Given the description of an element on the screen output the (x, y) to click on. 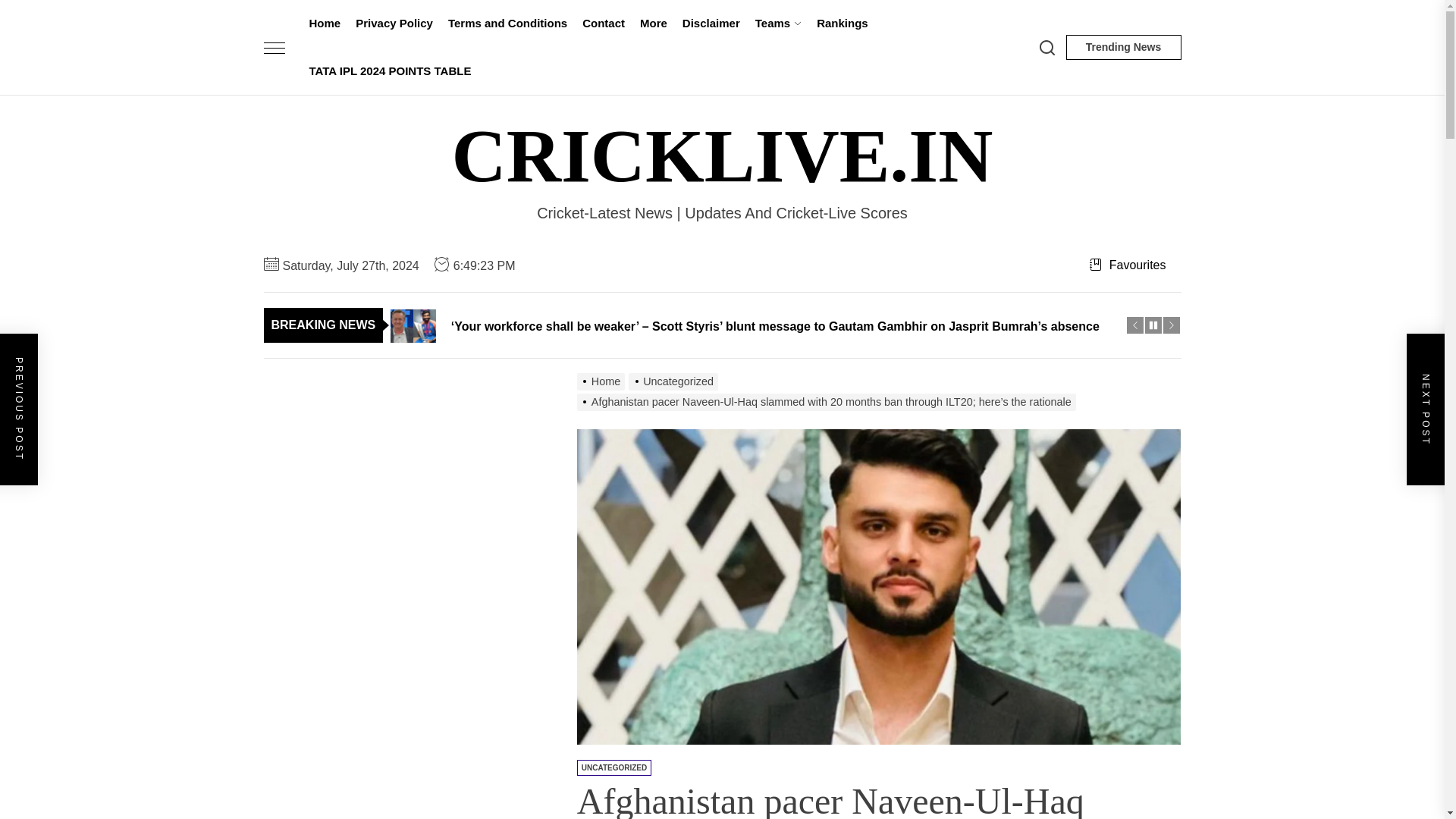
TATA IPL 2024 POINTS TABLE (390, 70)
Trending News (1122, 47)
Rankings (842, 23)
Terms and Conditions (508, 23)
Privacy Policy (394, 23)
Home (325, 23)
Disclaimer (711, 23)
Contact (603, 23)
Teams (778, 23)
